Given the description of an element on the screen output the (x, y) to click on. 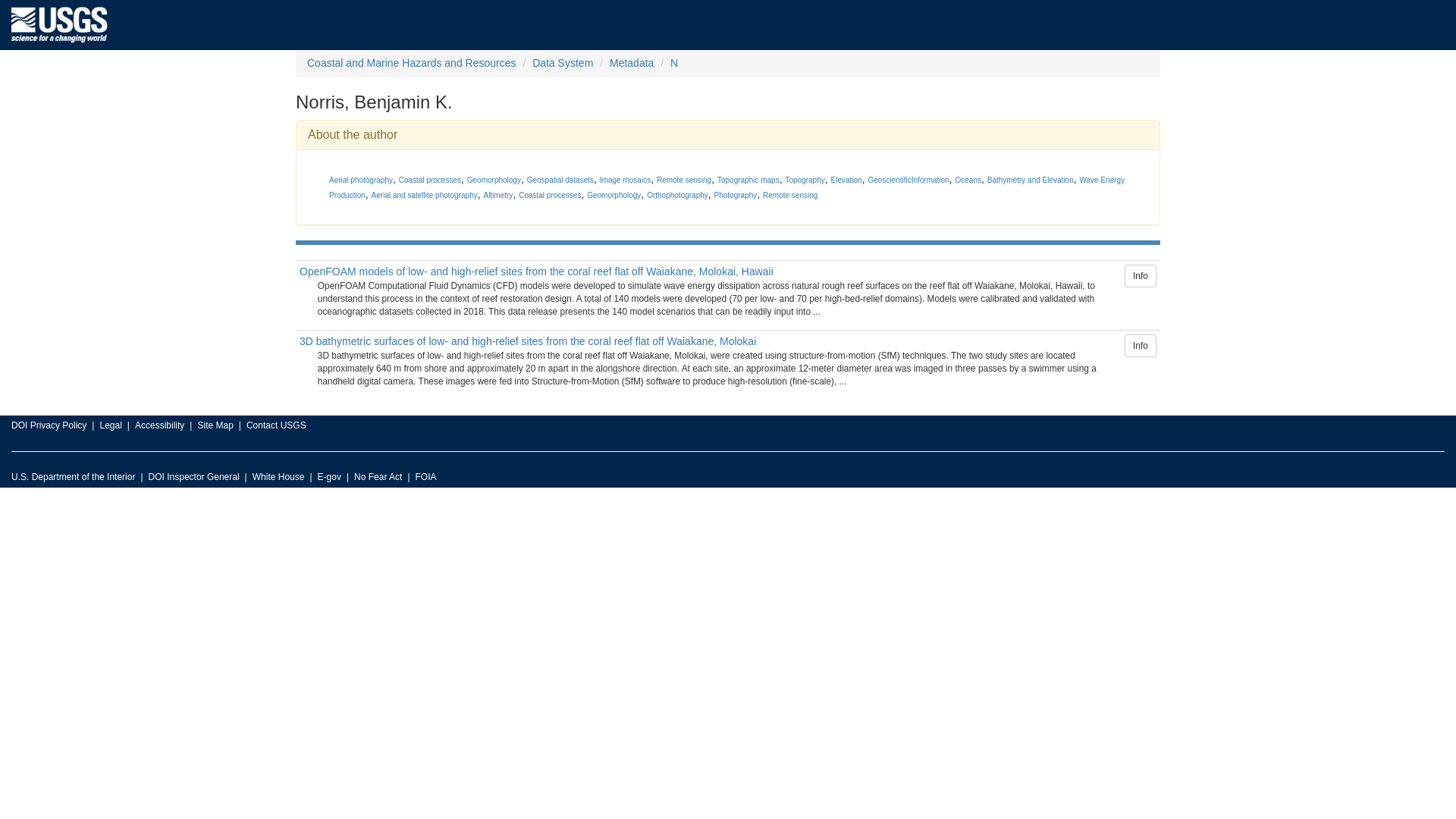
Elevation (846, 180)
Data System (562, 62)
Topography (804, 180)
Site Map (214, 425)
Metadata (631, 62)
Home (59, 24)
